Given the description of an element on the screen output the (x, y) to click on. 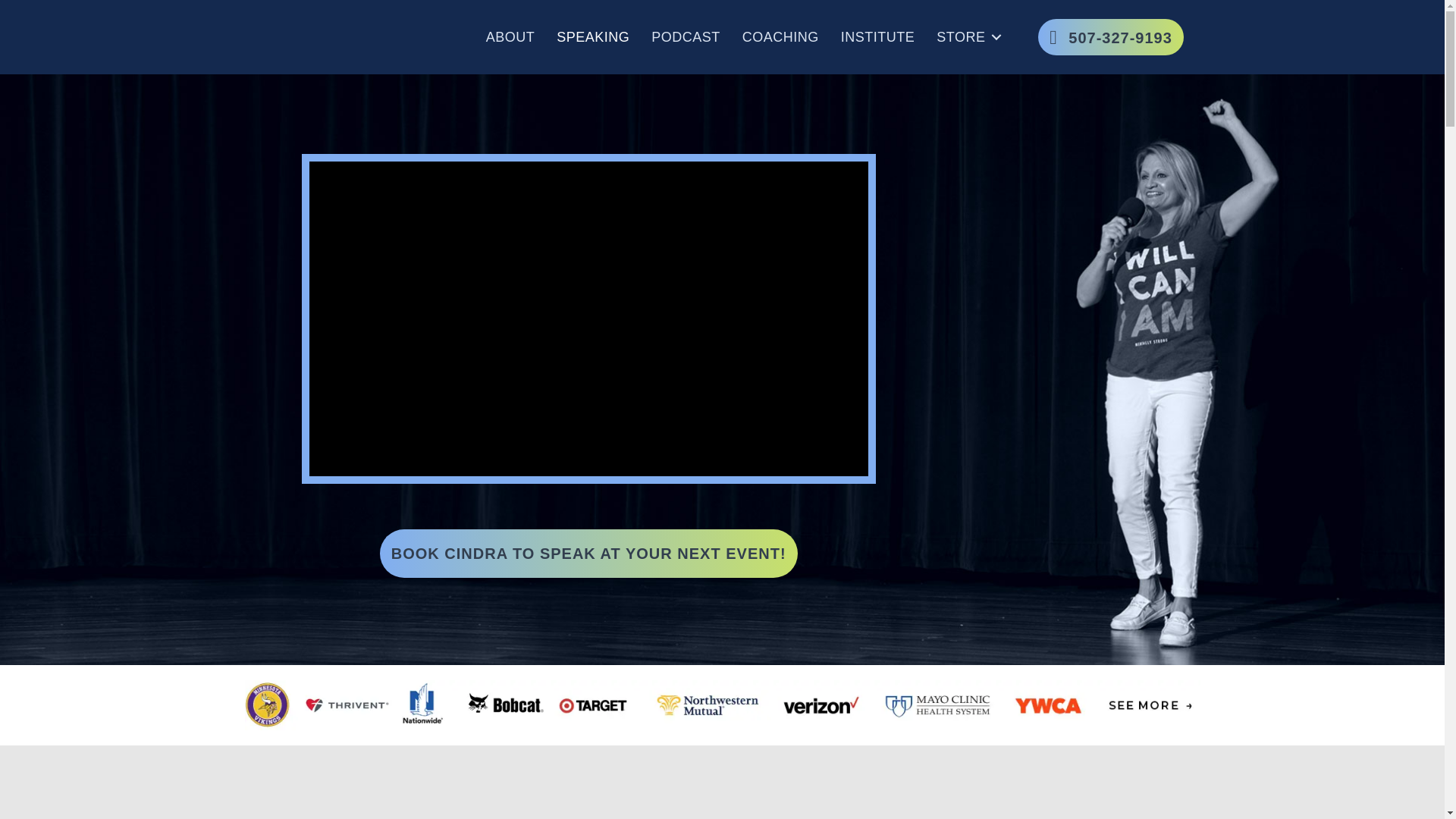
credibility (721, 705)
COACHING (780, 36)
SPEAKING (593, 36)
INSTITUTE (877, 36)
STORE (966, 36)
507-327-9193 (1110, 36)
ABOUT (511, 36)
BOOK CINDRA TO SPEAK AT YOUR NEXT EVENT! (588, 553)
PODCAST (685, 36)
